Given the description of an element on the screen output the (x, y) to click on. 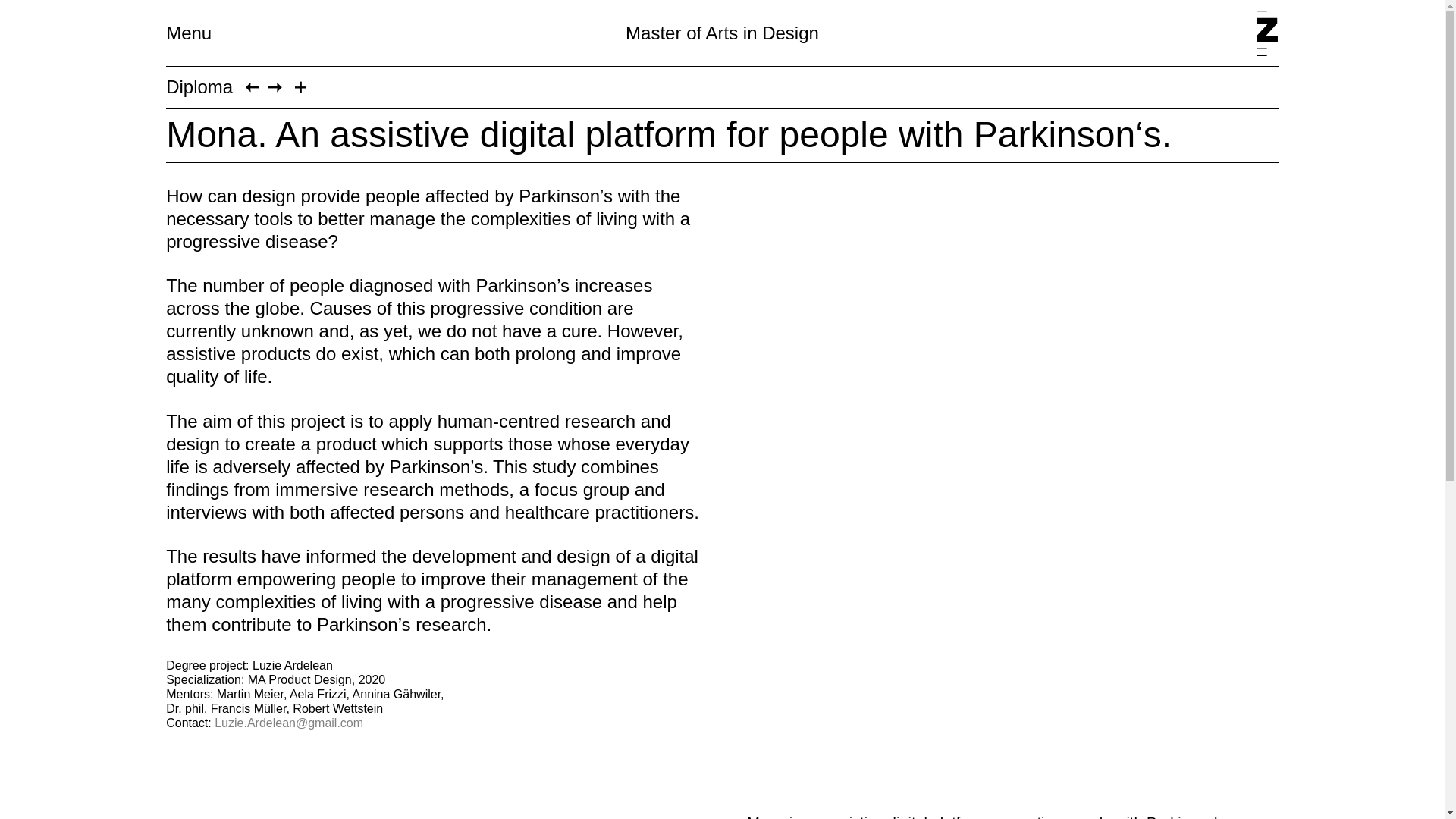
Master of Arts in Design (722, 32)
Menu (188, 32)
Diploma (198, 86)
